Given the description of an element on the screen output the (x, y) to click on. 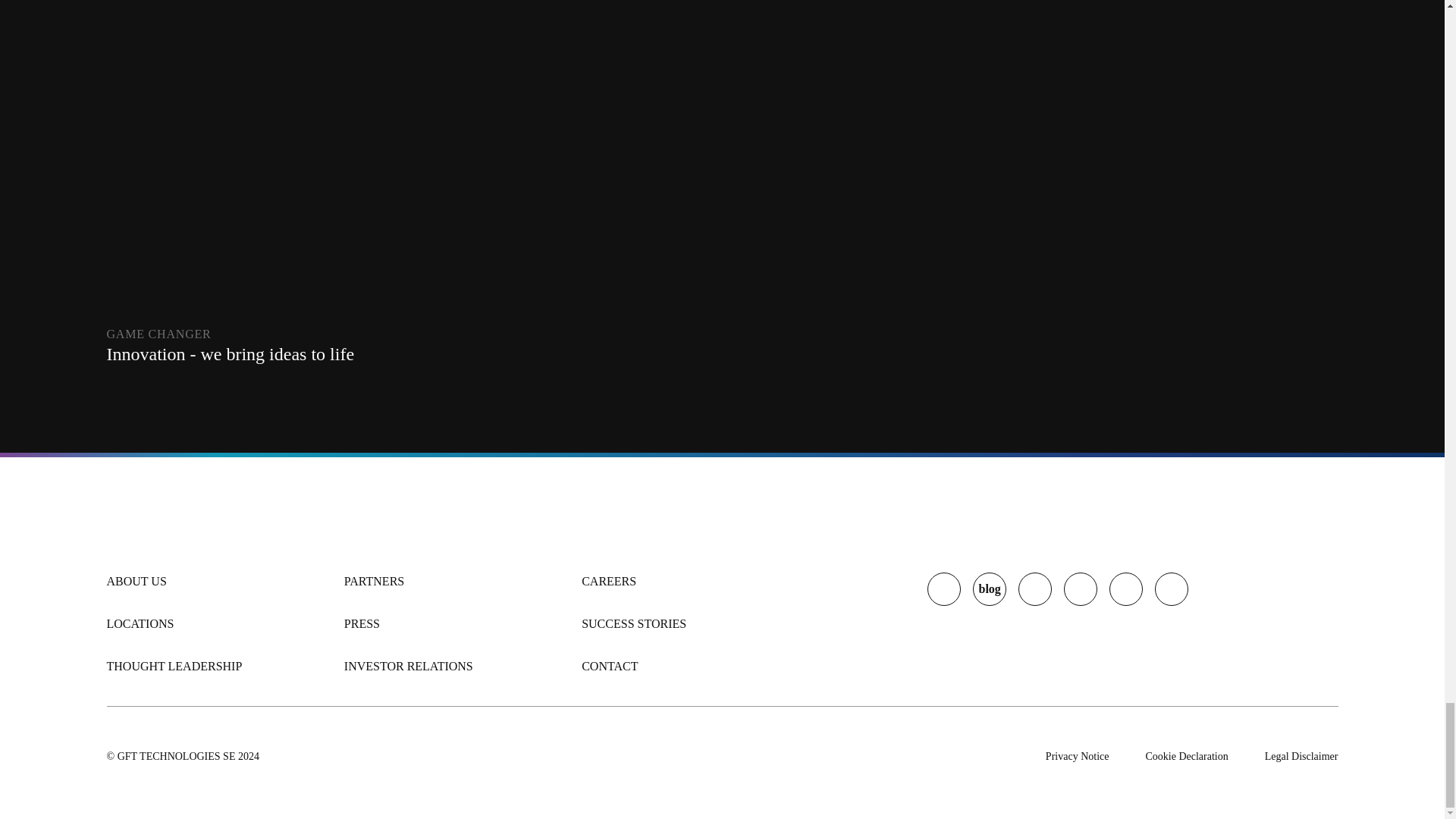
PARTNERS (373, 581)
CONTACT (608, 666)
blog (989, 589)
CAREERS (608, 581)
INVESTOR RELATIONS (408, 666)
ABOUT US (135, 581)
Legal Disclaimer (1301, 756)
SUCCESS STORIES (632, 624)
Cookie Declaration (1185, 756)
LOCATIONS (139, 624)
